Given the description of an element on the screen output the (x, y) to click on. 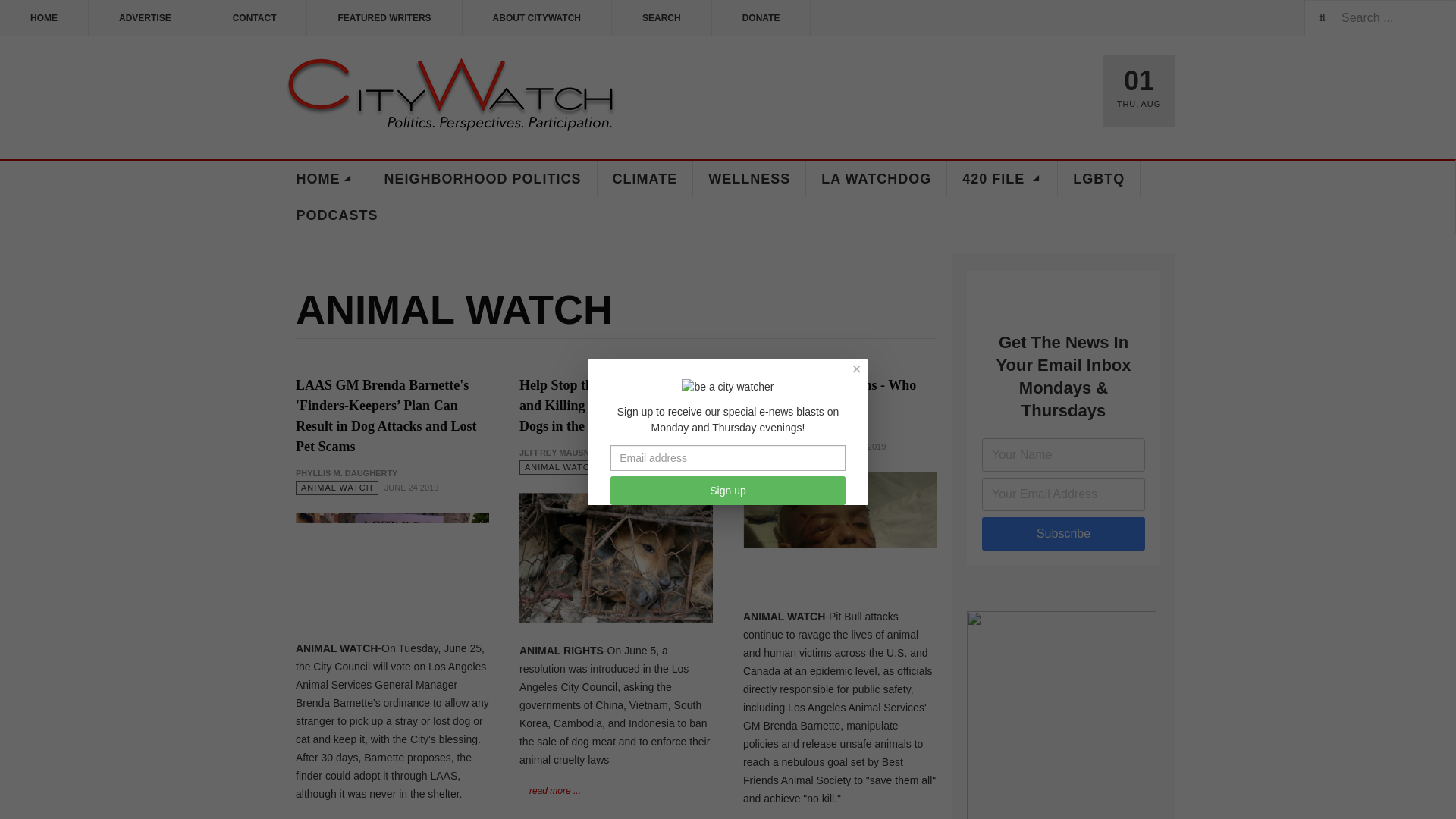
CityWatch Los Angeles (451, 94)
HOME (324, 178)
LGBTQ (1099, 178)
LA WATCHDOG (876, 178)
ABOUT CITYWATCH (537, 18)
DONATE (760, 18)
PODCASTS (337, 215)
WELLNESS (749, 178)
CLIMATE (645, 178)
